Given the description of an element on the screen output the (x, y) to click on. 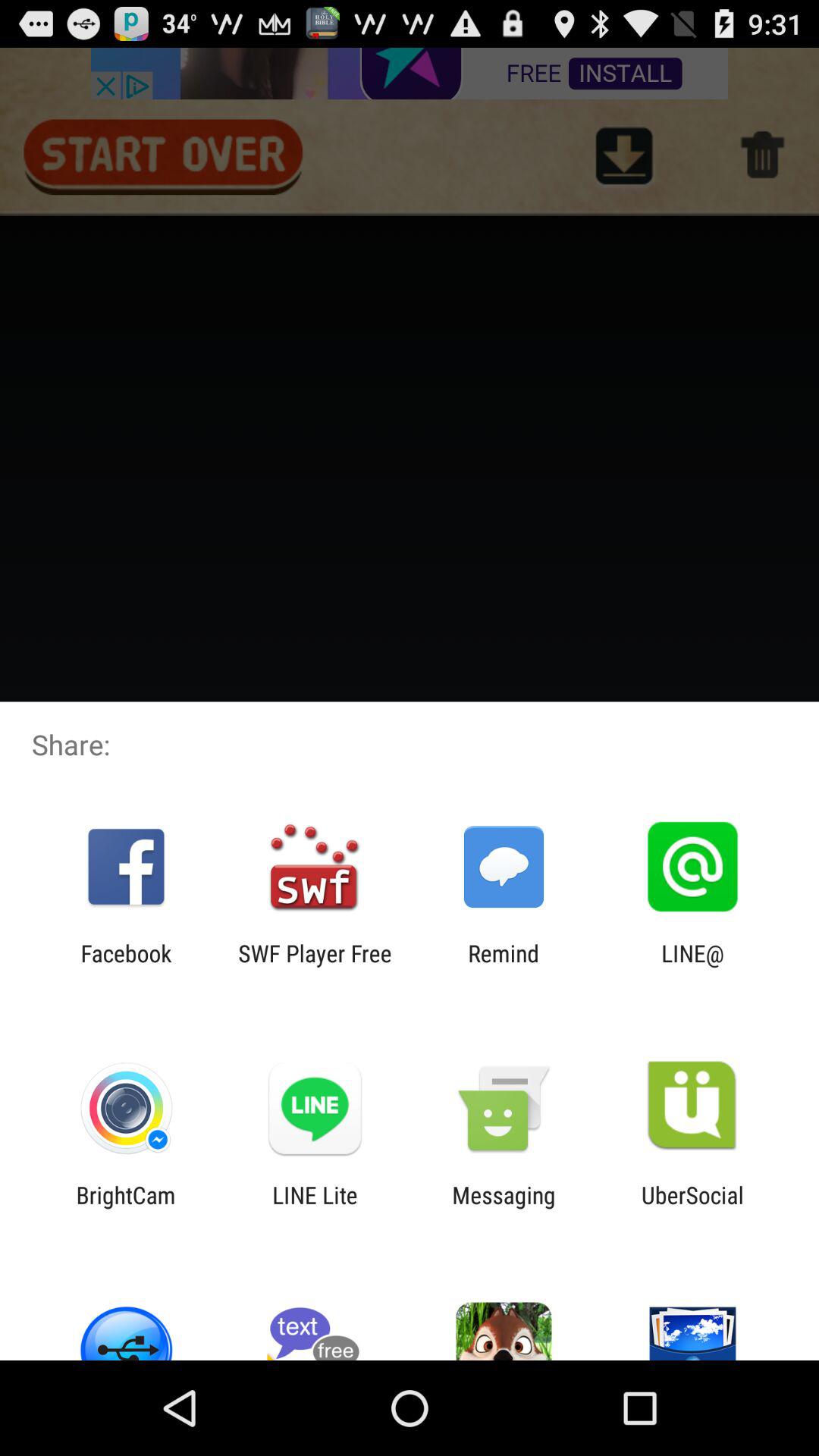
launch remind app (503, 966)
